Given the description of an element on the screen output the (x, y) to click on. 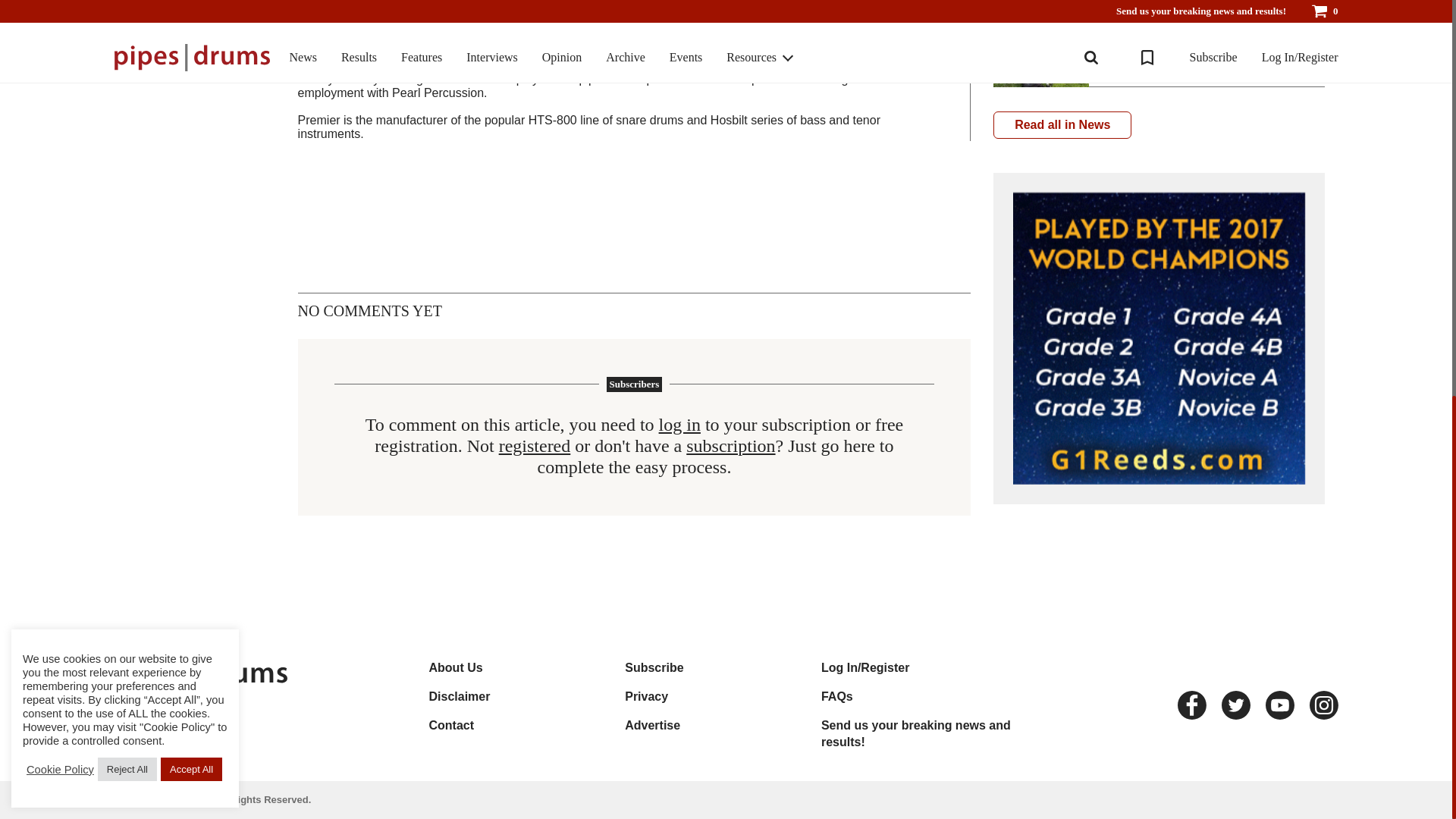
registered (534, 446)
G1 Reeds square (1158, 338)
log in (679, 424)
subscription (729, 446)
